Given the description of an element on the screen output the (x, y) to click on. 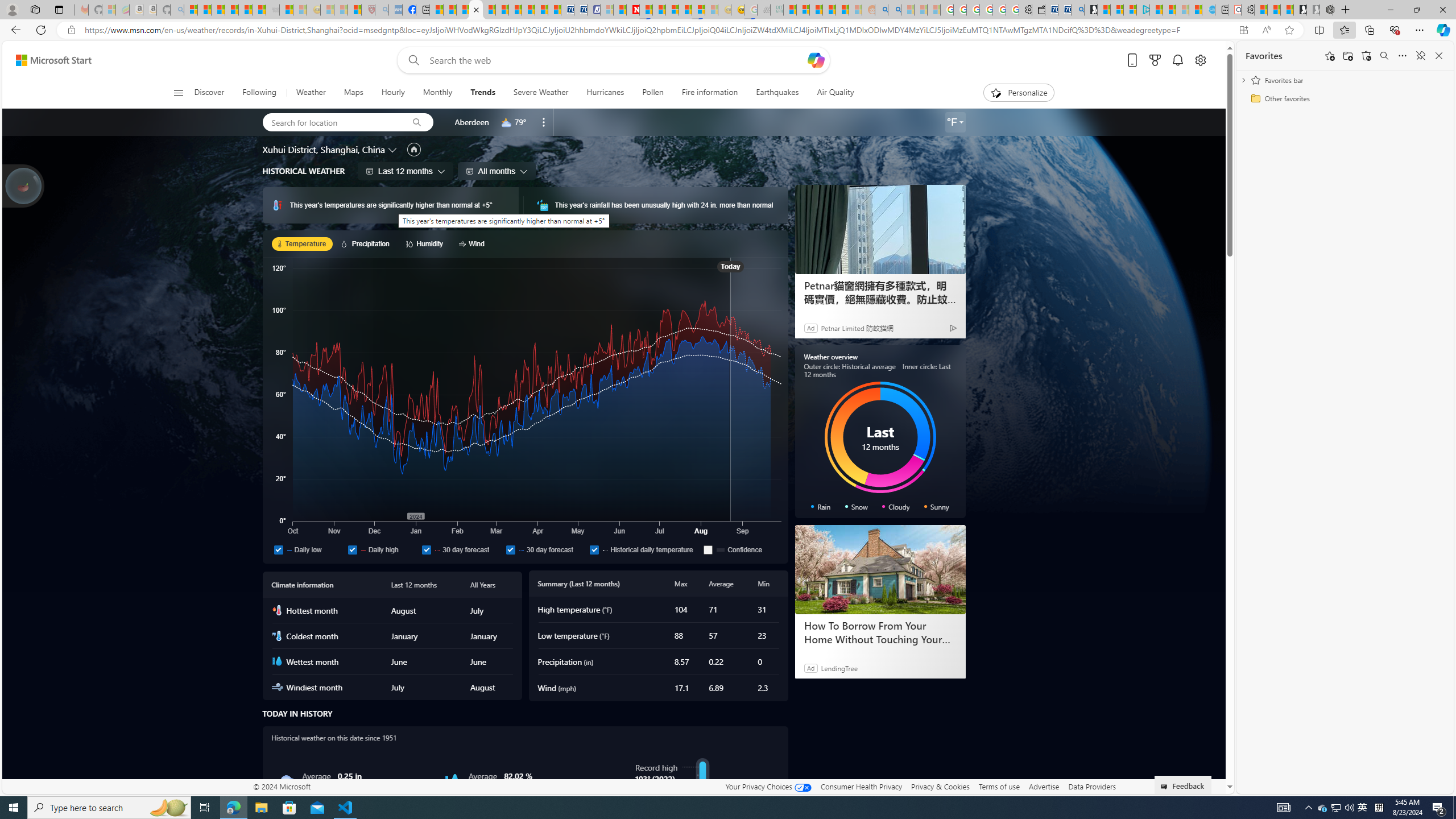
Join us in planting real trees to help our planet! (23, 185)
Monthly (437, 92)
Combat Siege - Sleeping (271, 9)
Bing Real Estate - Home sales and rental listings (1077, 9)
Daily high (382, 549)
Utah sues federal government - Search (894, 9)
